Given the description of an element on the screen output the (x, y) to click on. 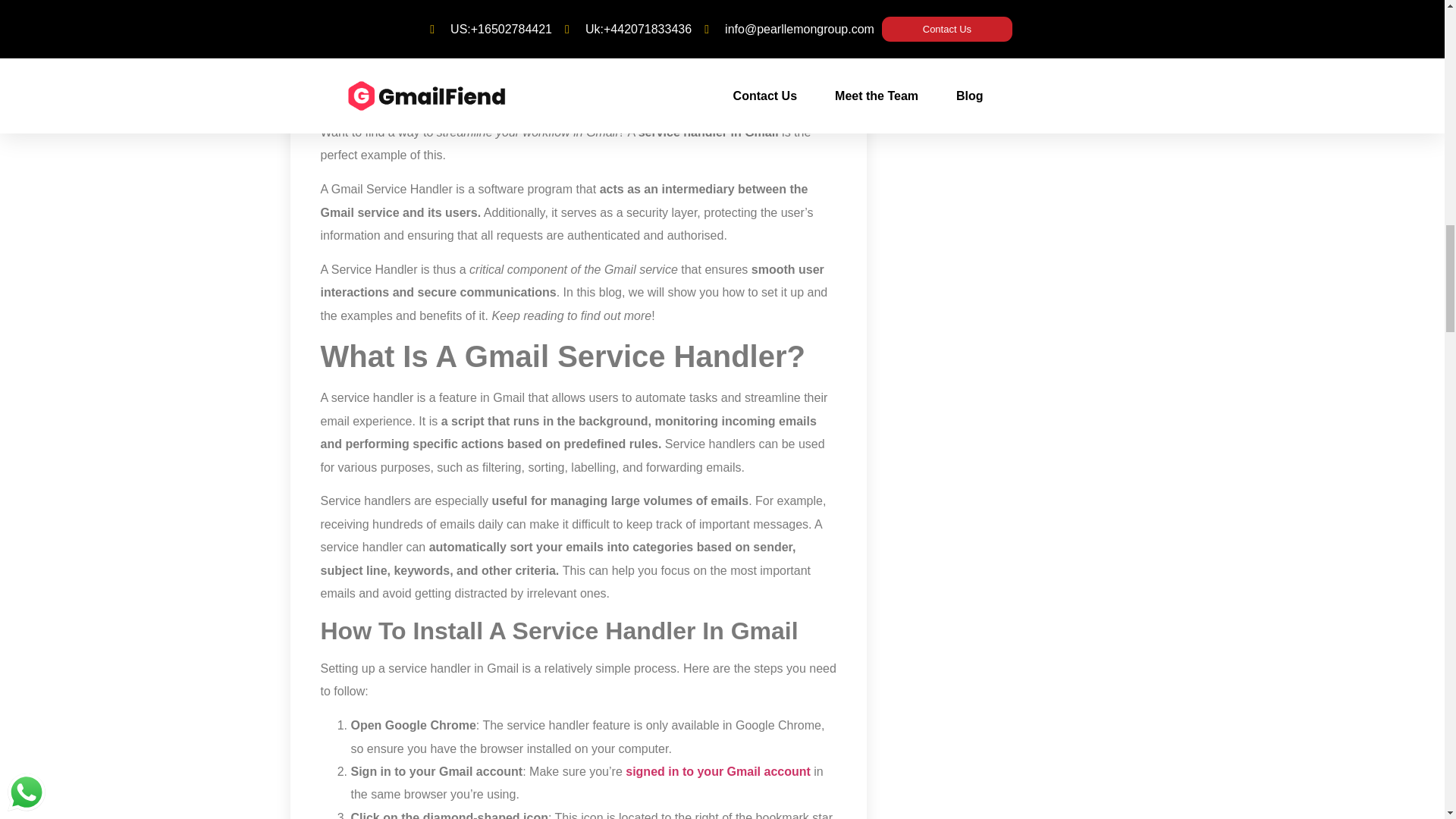
Service Handler Gmail (577, 55)
